Given the description of an element on the screen output the (x, y) to click on. 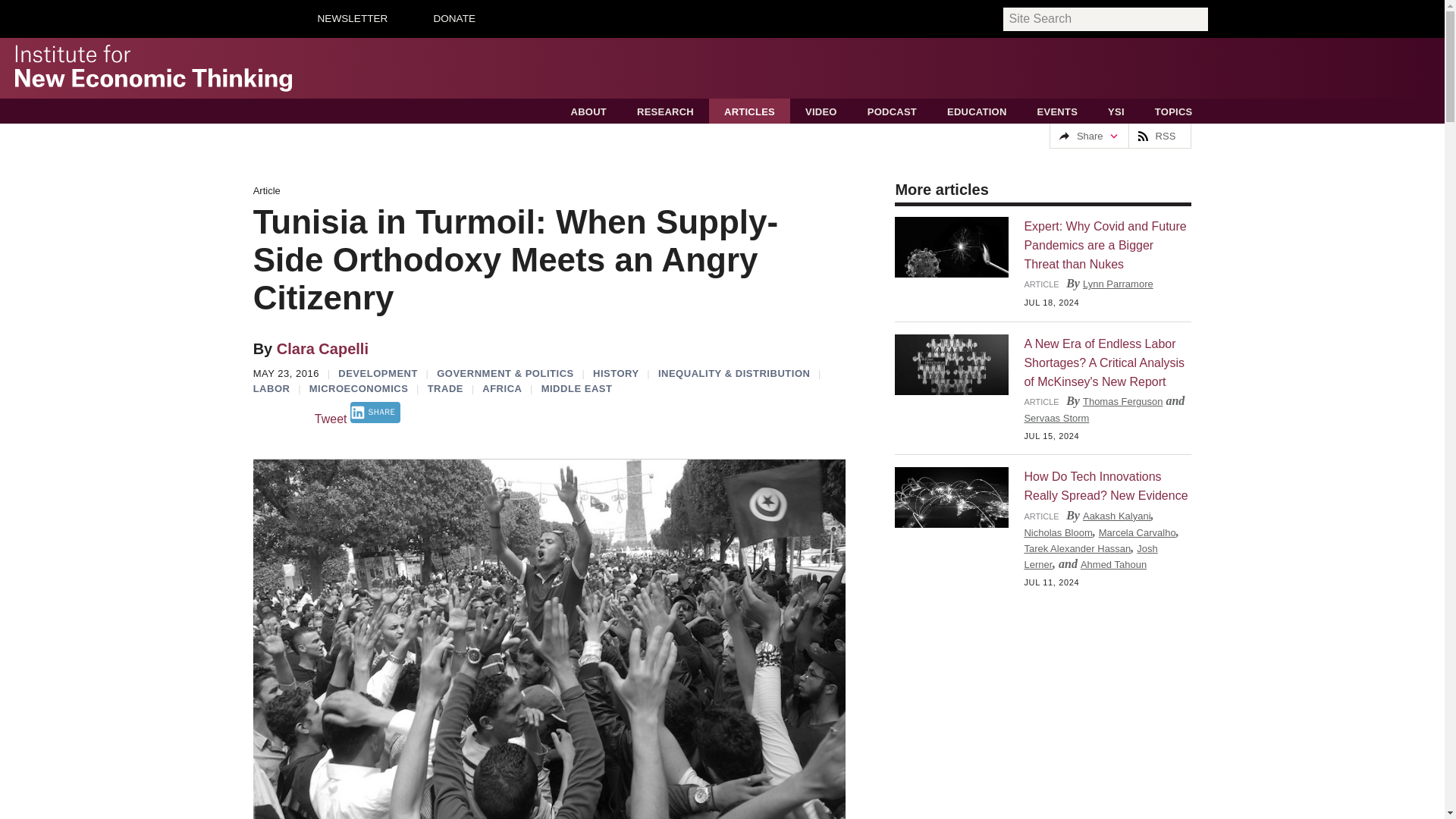
EVENTS (1057, 110)
ARTICLES (749, 110)
RESEARCH (665, 110)
DONATE (453, 18)
PODCAST (891, 110)
YSI (1116, 110)
VIDEO (820, 110)
TOPICS (1174, 110)
ABOUT (588, 110)
EDUCATION (976, 110)
NEWSLETTER (352, 18)
